Given the description of an element on the screen output the (x, y) to click on. 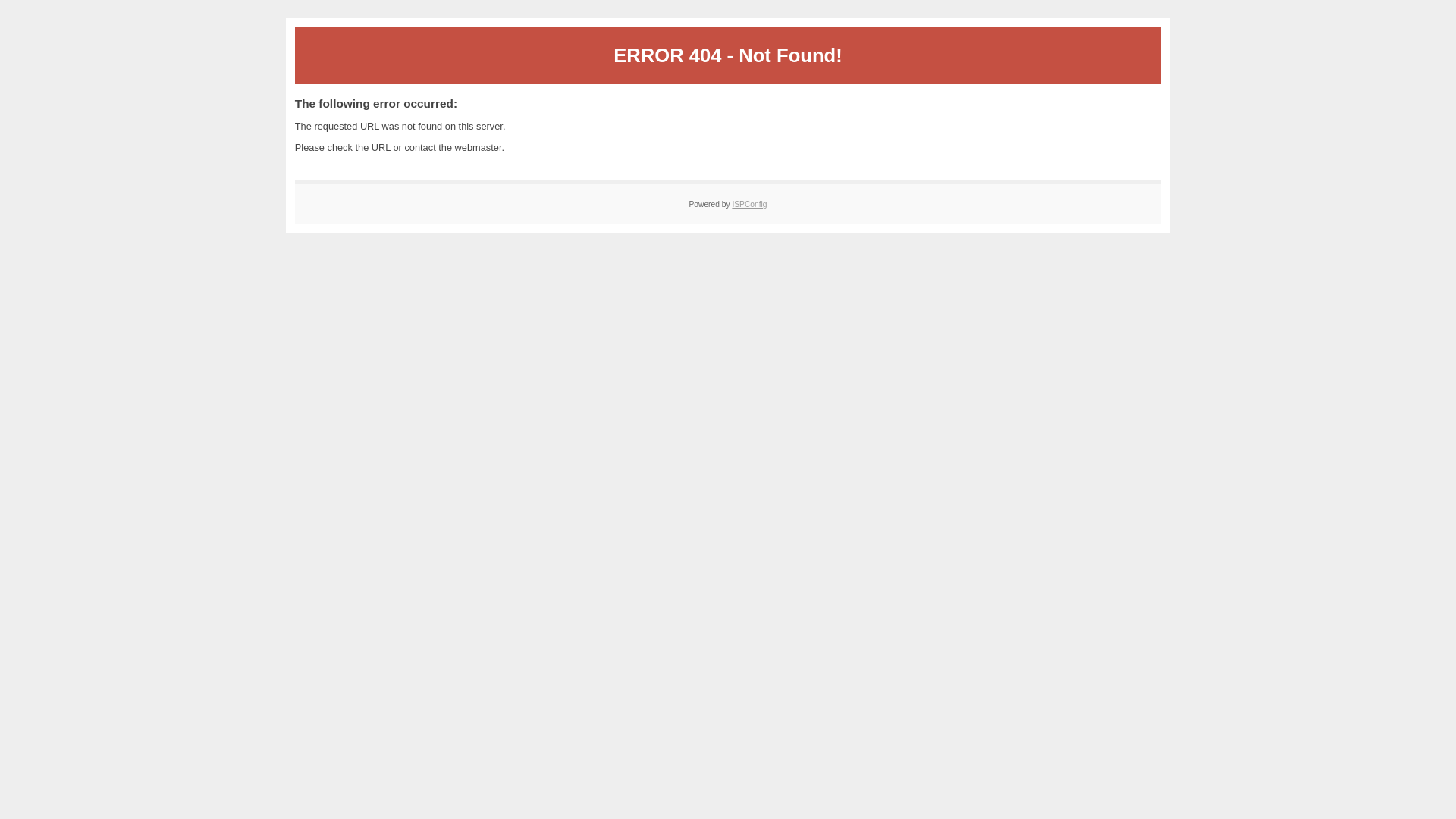
ISPConfig Element type: text (748, 204)
